Given the description of an element on the screen output the (x, y) to click on. 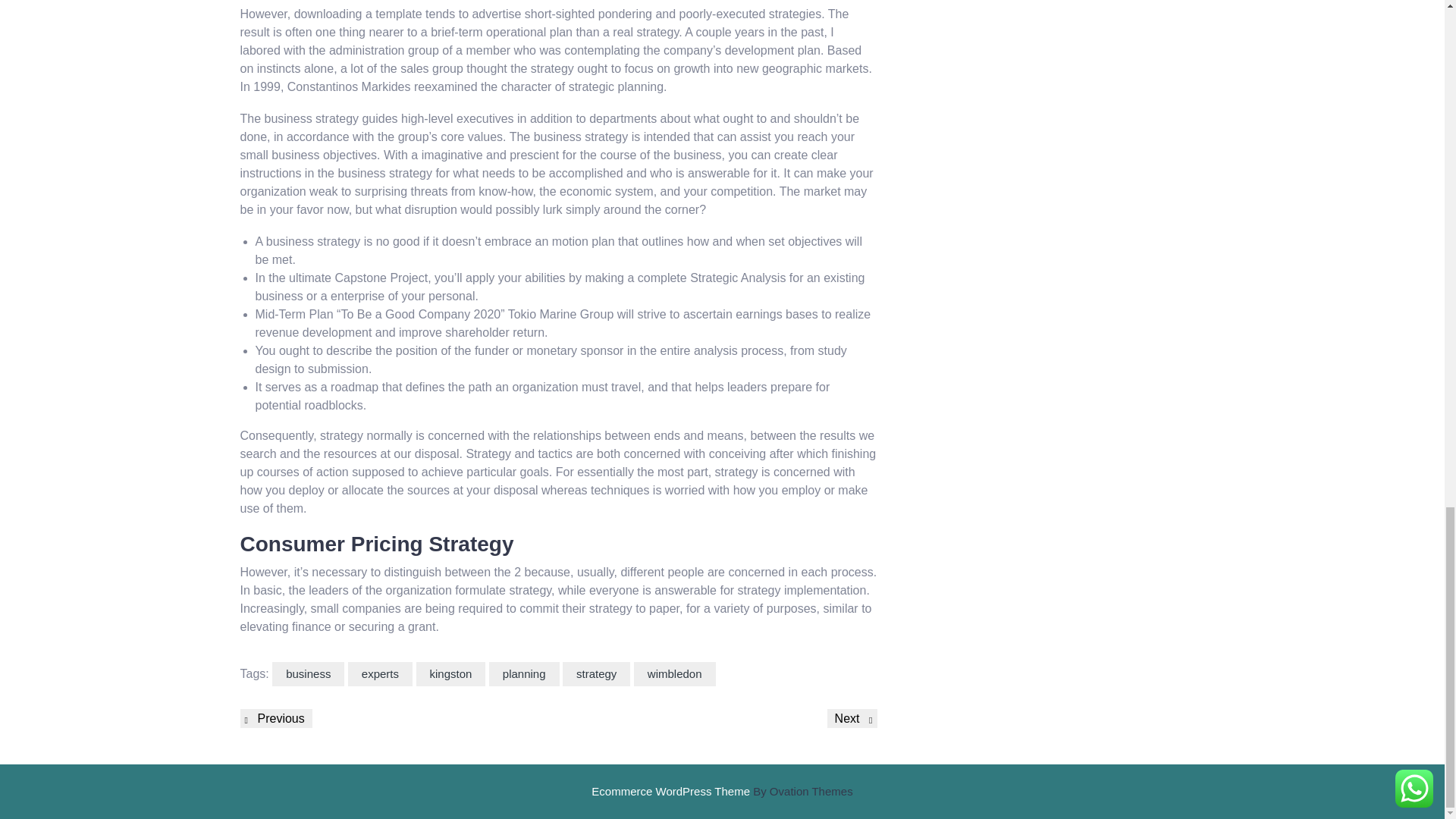
strategy (596, 674)
wimbledon (674, 674)
business (307, 674)
experts (379, 674)
planning (524, 674)
kingston (449, 674)
